Given the description of an element on the screen output the (x, y) to click on. 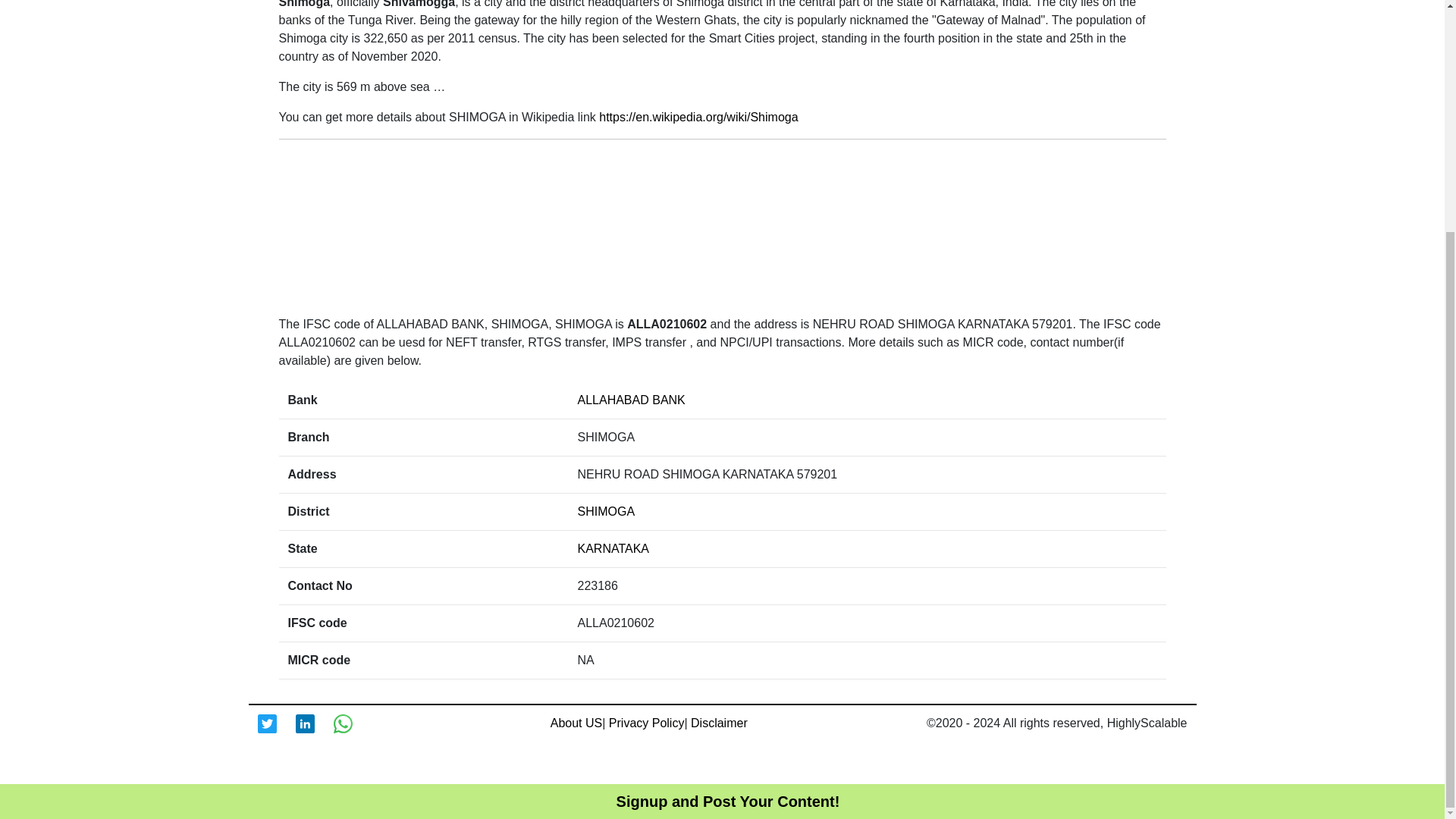
ALLAHABAD BANK (631, 399)
About US (576, 722)
KARNATAKA (613, 548)
Privacy Policy (646, 722)
Sticky footer container (727, 486)
SHIMOGA (606, 511)
Disclaimer (719, 722)
Signup and Post Your Content! (727, 486)
